Given the description of an element on the screen output the (x, y) to click on. 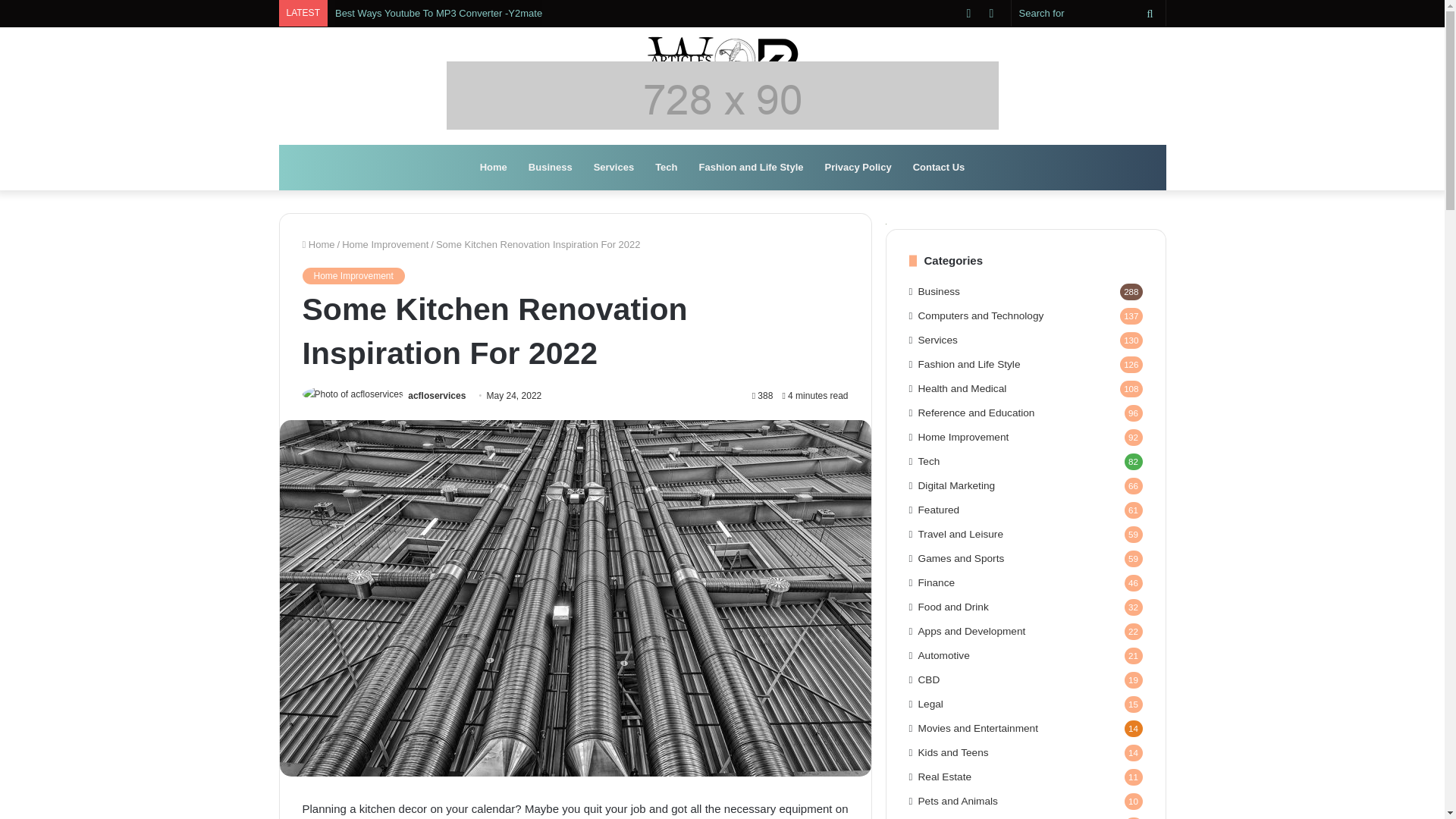
Fashion and Life Style (750, 167)
Home (317, 244)
Contact Us (938, 167)
Best Ways Youtube To MP3 Converter -Y2mate (437, 12)
Tech (666, 167)
Business (550, 167)
Privacy Policy (857, 167)
acfloservices (436, 395)
Home (493, 167)
acfloservices (436, 395)
